Given the description of an element on the screen output the (x, y) to click on. 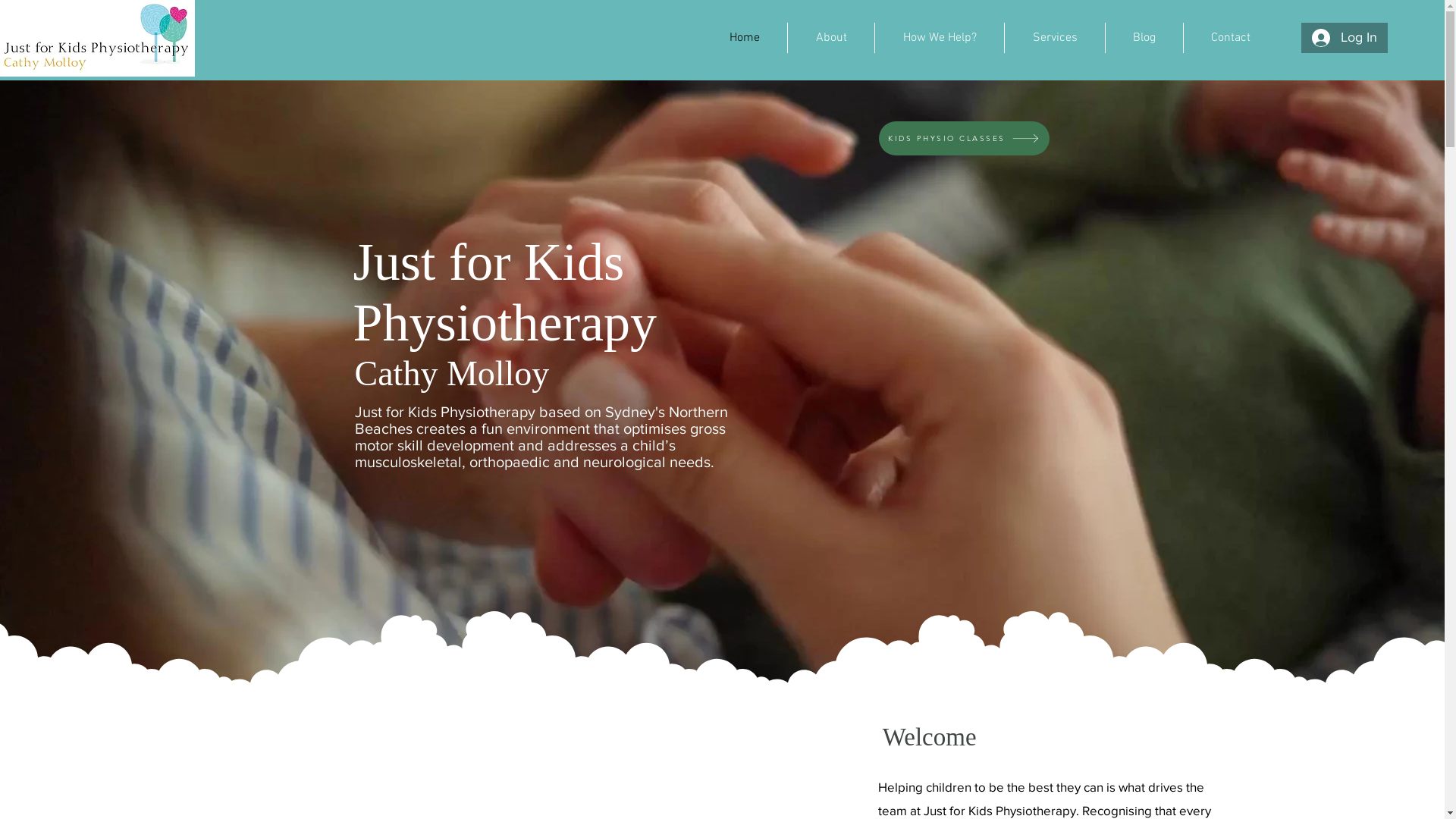
Log In Element type: text (1344, 37)
Blog Element type: text (1144, 37)
About Element type: text (830, 37)
KIDS PHYSIO CLASSES Element type: text (963, 138)
Contact Element type: text (1230, 37)
Services Element type: text (1054, 37)
Home Element type: text (744, 37)
